Given the description of an element on the screen output the (x, y) to click on. 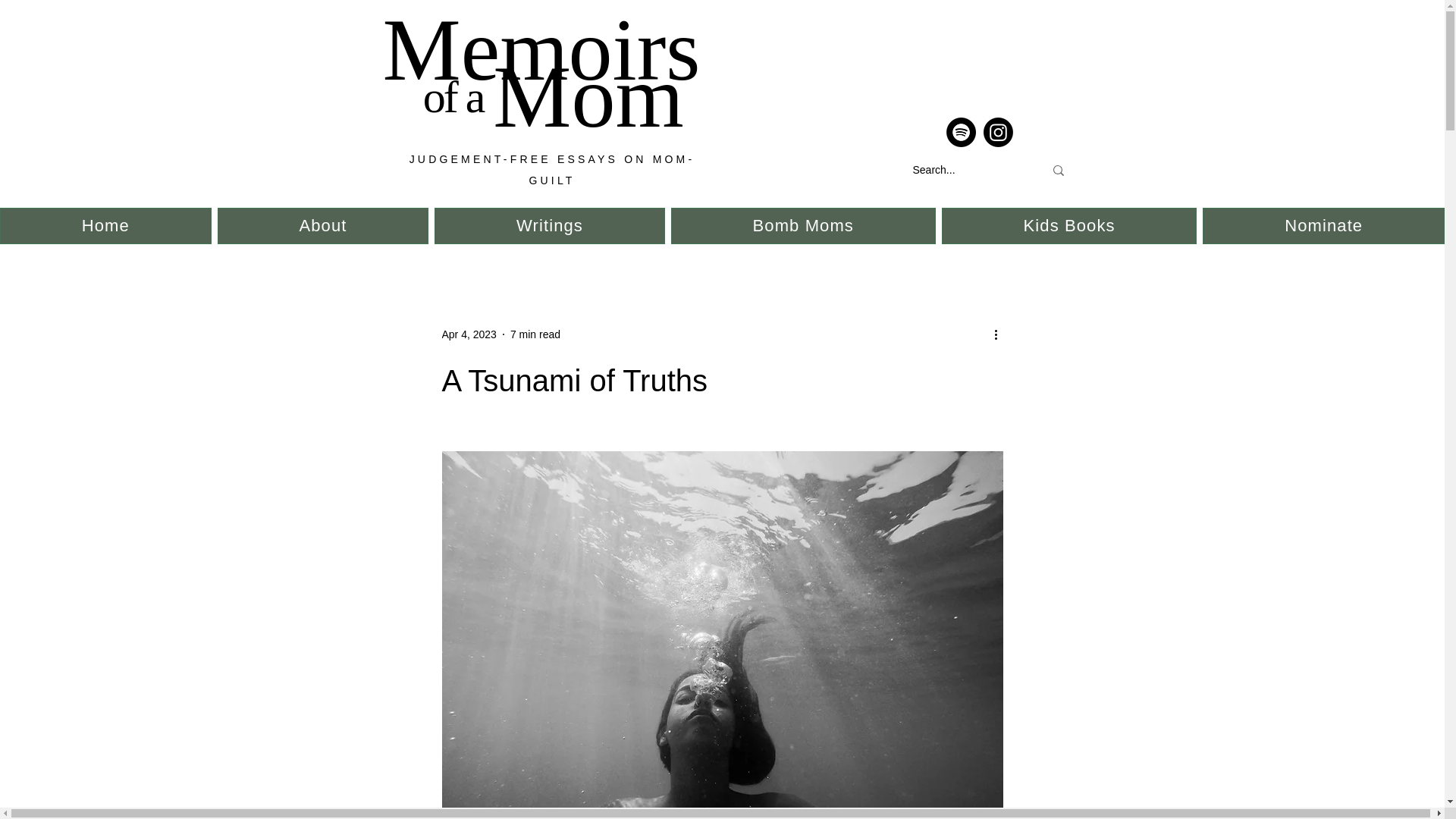
Nominate (1323, 226)
Kids Books (1069, 226)
Writings (548, 226)
7 min read (535, 333)
Apr 4, 2023 (468, 333)
Mom (587, 96)
Bomb Moms (803, 226)
Home (105, 226)
Memoirs  (552, 49)
About (322, 226)
of a (453, 97)
